Given the description of an element on the screen output the (x, y) to click on. 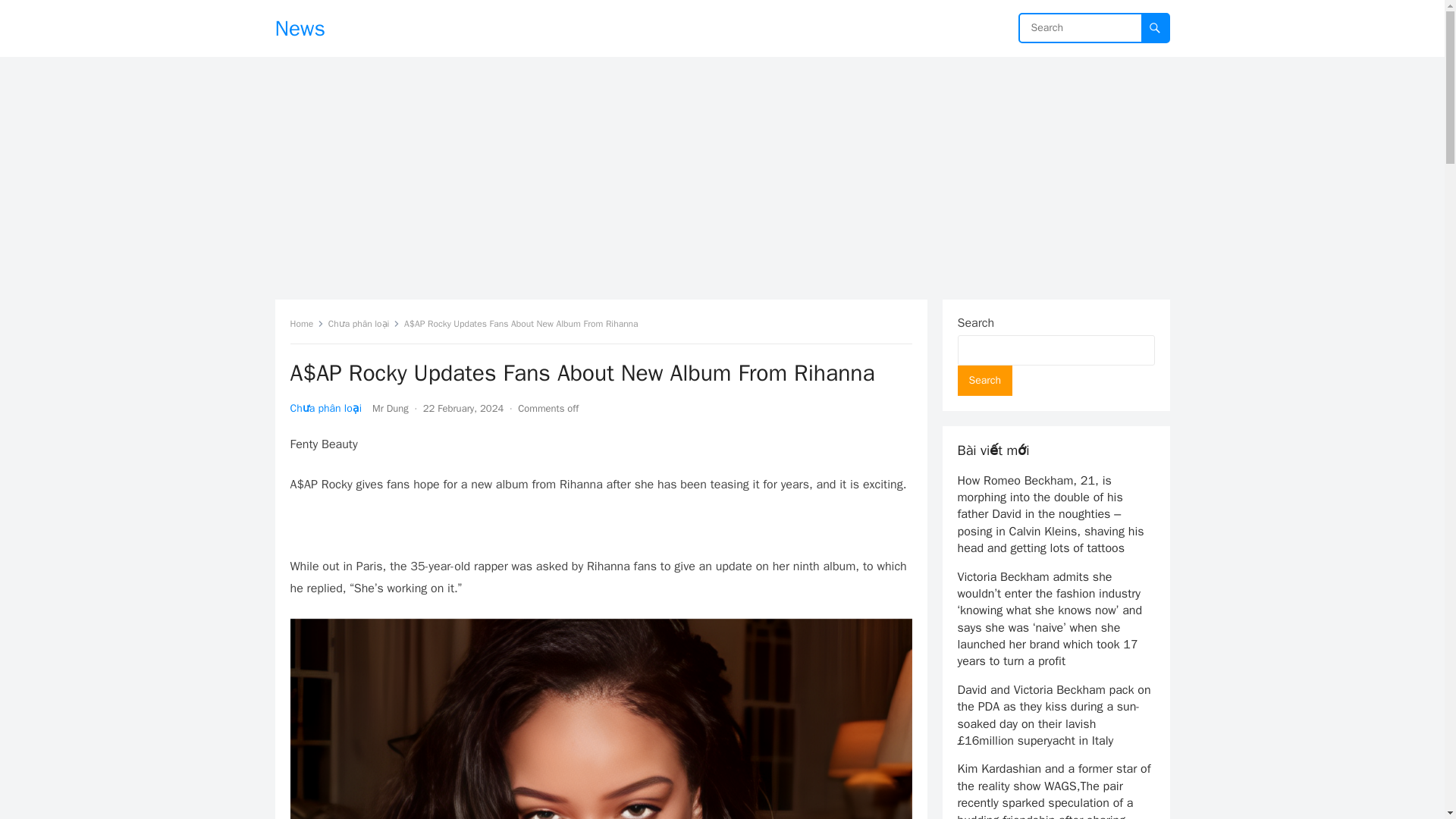
Search (983, 380)
Home (306, 323)
News (299, 28)
Posts by Mr Dung (390, 408)
Mr Dung (390, 408)
